Given the description of an element on the screen output the (x, y) to click on. 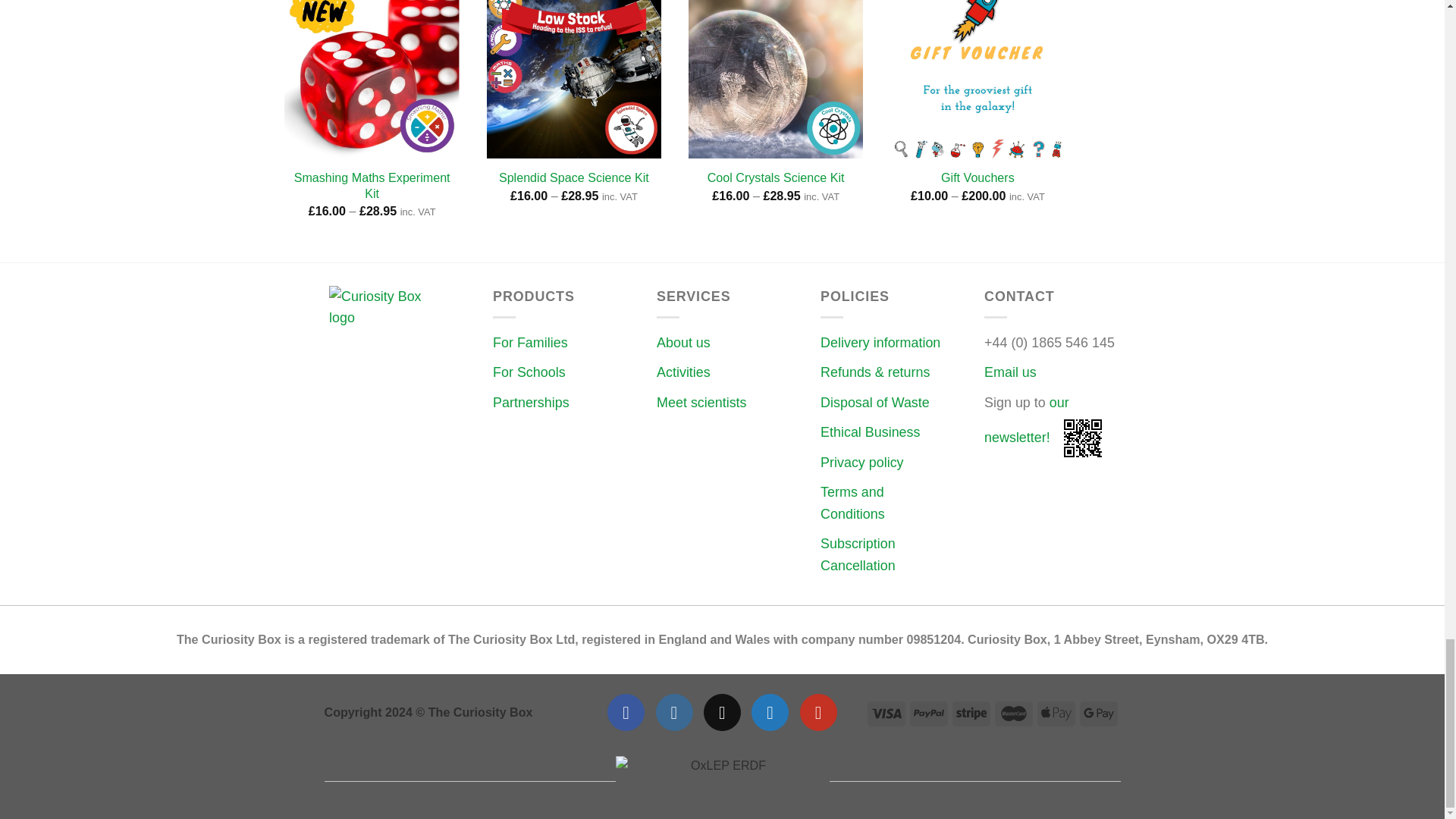
Follow on Facebook (626, 712)
Follow on Instagram (674, 712)
Follow on TikTok (722, 712)
Follow on Twitter (770, 712)
